Given the description of an element on the screen output the (x, y) to click on. 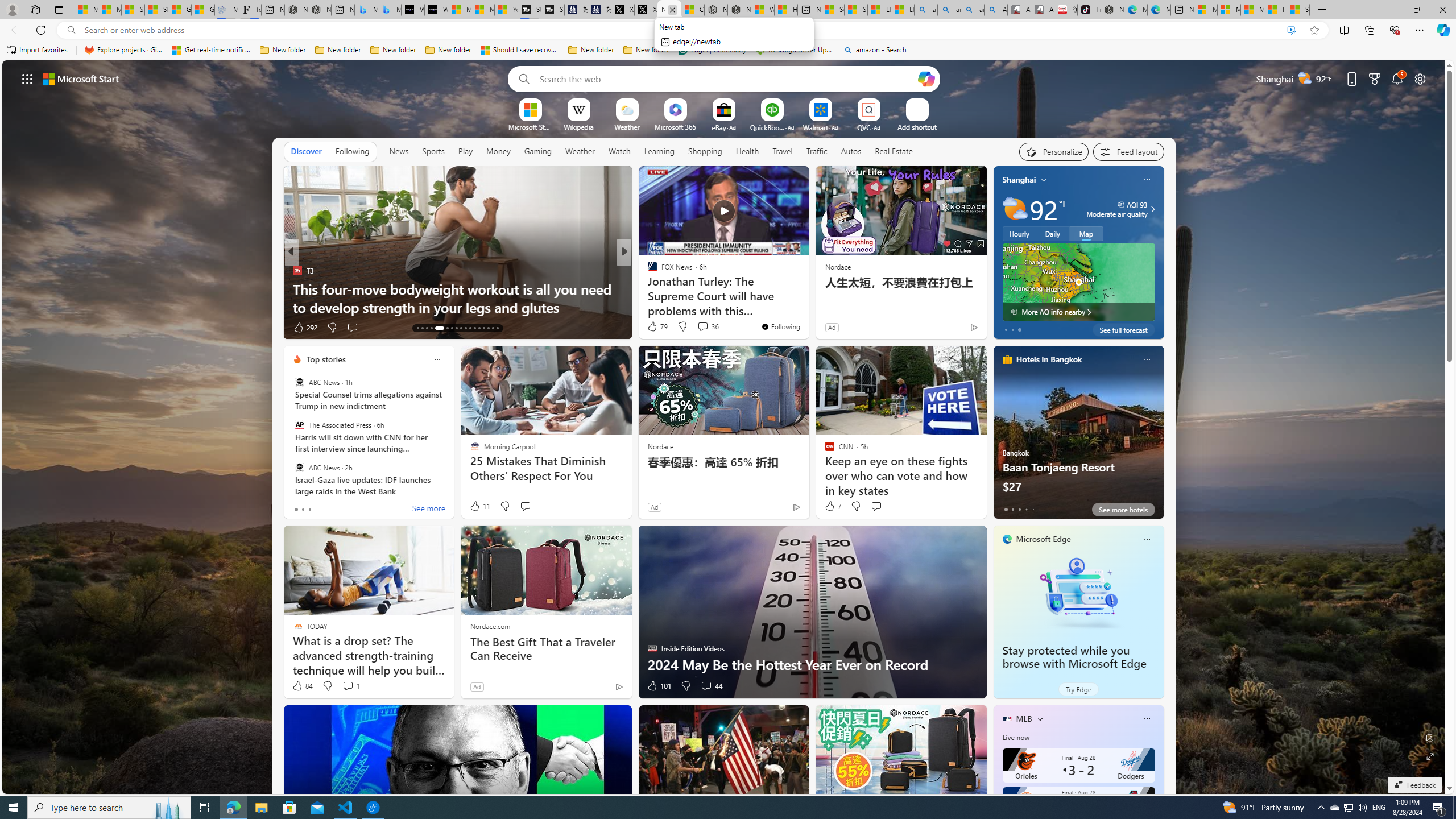
960 Like (654, 327)
Dislike (685, 685)
Stay protected while you browse with Microsoft Edge (1077, 592)
View comments 17 Comment (707, 327)
Split screen (1344, 29)
Address and search bar (680, 29)
Discover (306, 151)
Larger map  (1077, 282)
Wikipedia (578, 126)
Open Copilot (926, 78)
MLB (1024, 718)
Health (746, 151)
AutomationID: tab-16 (431, 328)
AutomationID: tab-40 (497, 328)
Gaming (537, 151)
